Given the description of an element on the screen output the (x, y) to click on. 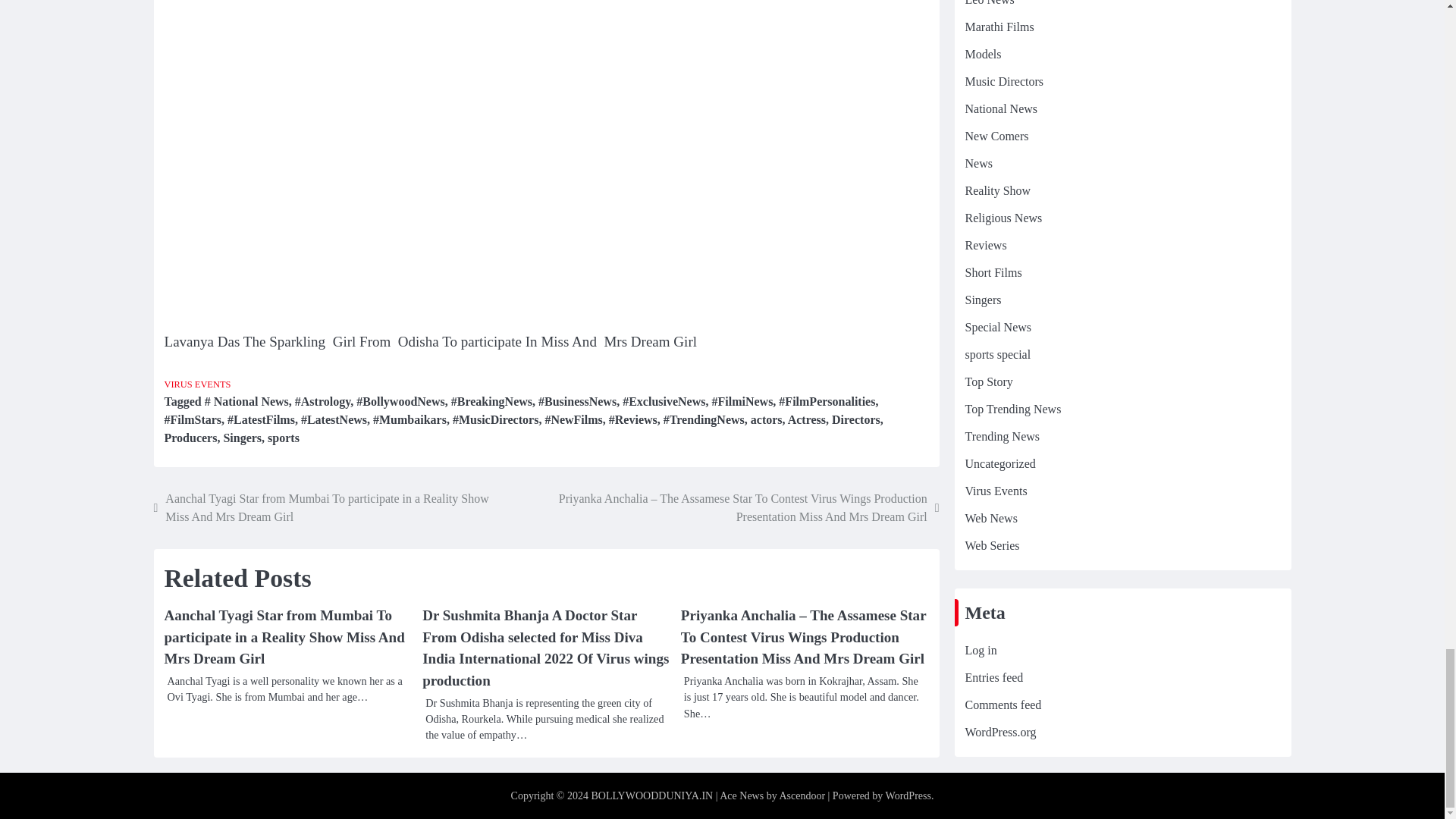
Actress (806, 419)
VIRUS EVENTS (196, 384)
actors (767, 419)
Producers (189, 437)
Directors (855, 419)
Singers (242, 437)
sports (283, 437)
